Given the description of an element on the screen output the (x, y) to click on. 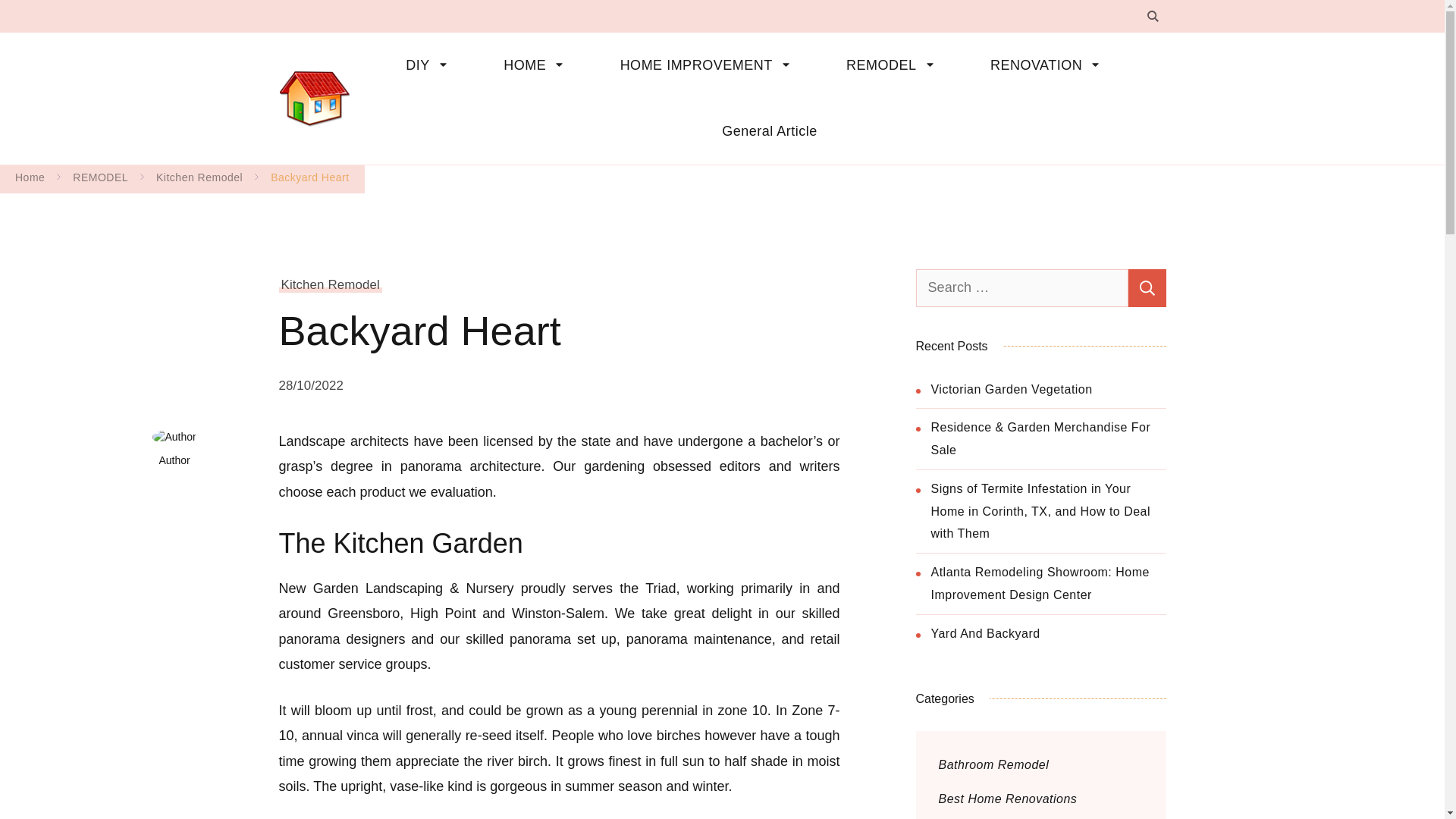
General Article (757, 131)
REMODEL (896, 65)
RENOVATION (1051, 65)
HOME IMPROVEMENT (710, 65)
HOME (538, 65)
Search (1147, 287)
dreamstreetlive.com (453, 85)
DIY (431, 65)
Search (1147, 287)
